Given the description of an element on the screen output the (x, y) to click on. 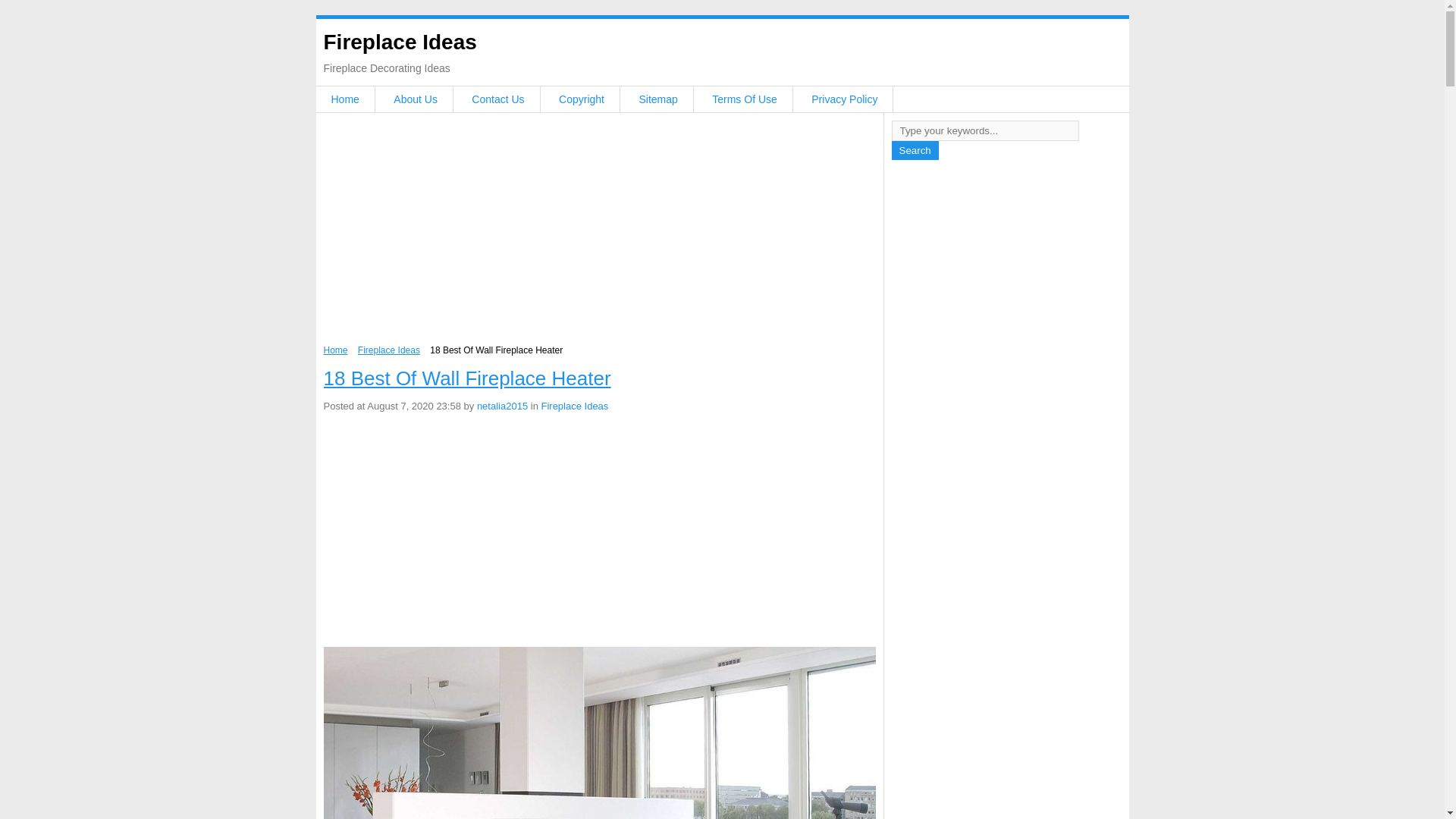
Home (344, 99)
Privacy Policy (843, 99)
Fireplace Ideas (389, 349)
Home (335, 349)
Terms Of Use (744, 99)
Sitemap (658, 99)
Fireplace Ideas (399, 42)
Contact Us (497, 99)
About Us (415, 99)
netalia2015 (502, 405)
